Given the description of an element on the screen output the (x, y) to click on. 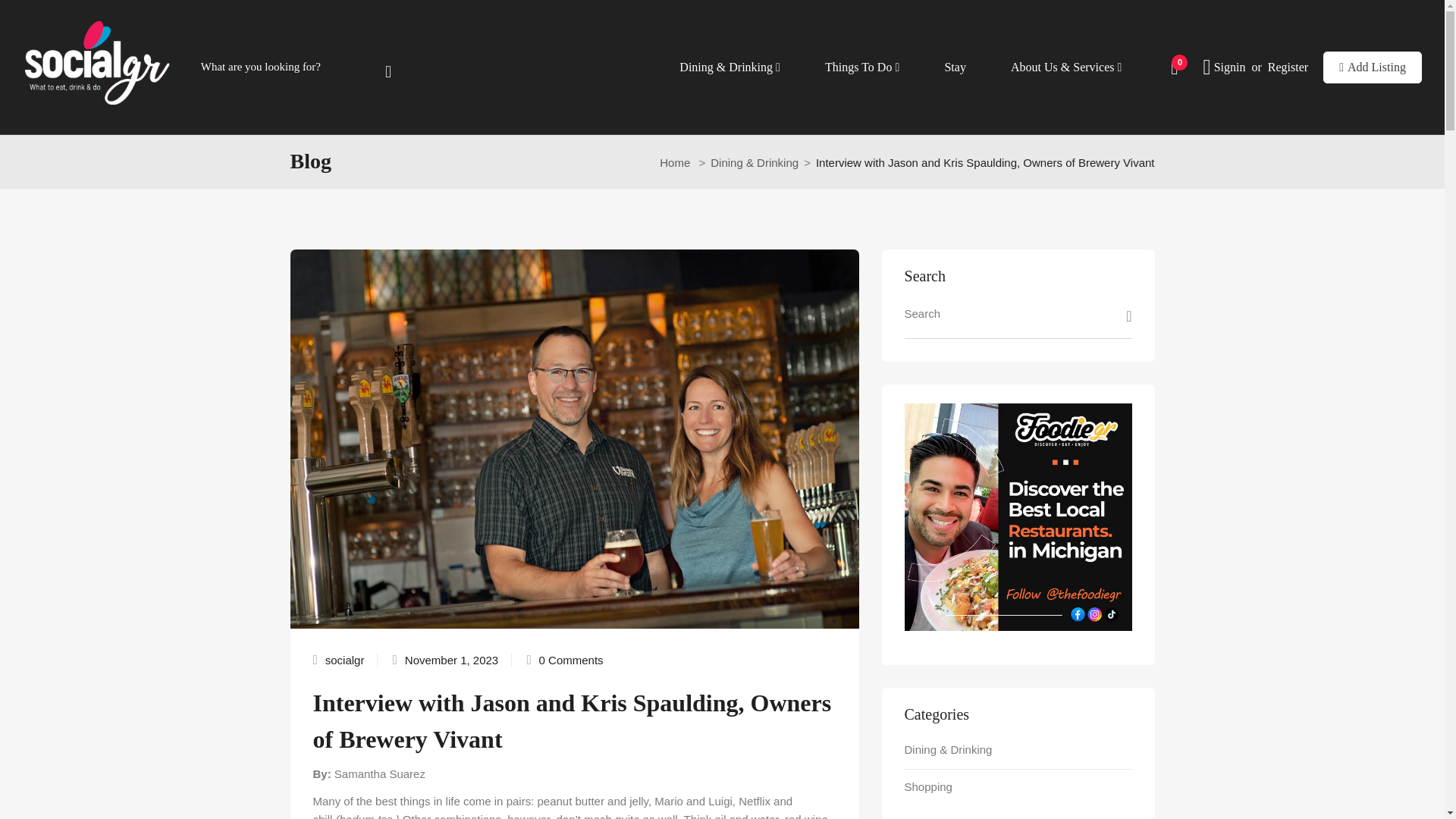
Add Listing (1372, 67)
Register (1287, 66)
Signin (1230, 66)
Posts by socialgr (344, 659)
